Given the description of an element on the screen output the (x, y) to click on. 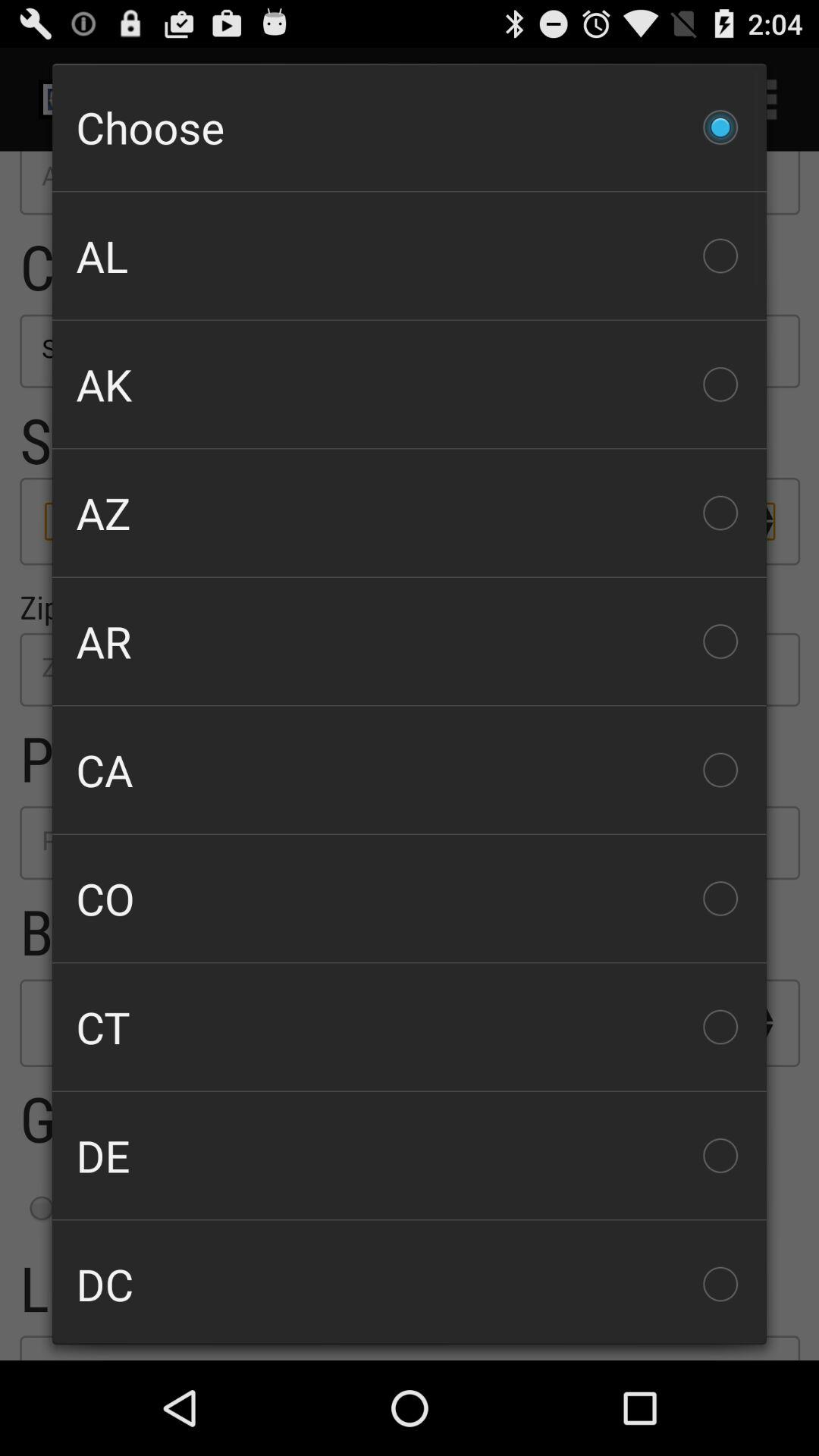
swipe until al checkbox (409, 255)
